Given the description of an element on the screen output the (x, y) to click on. 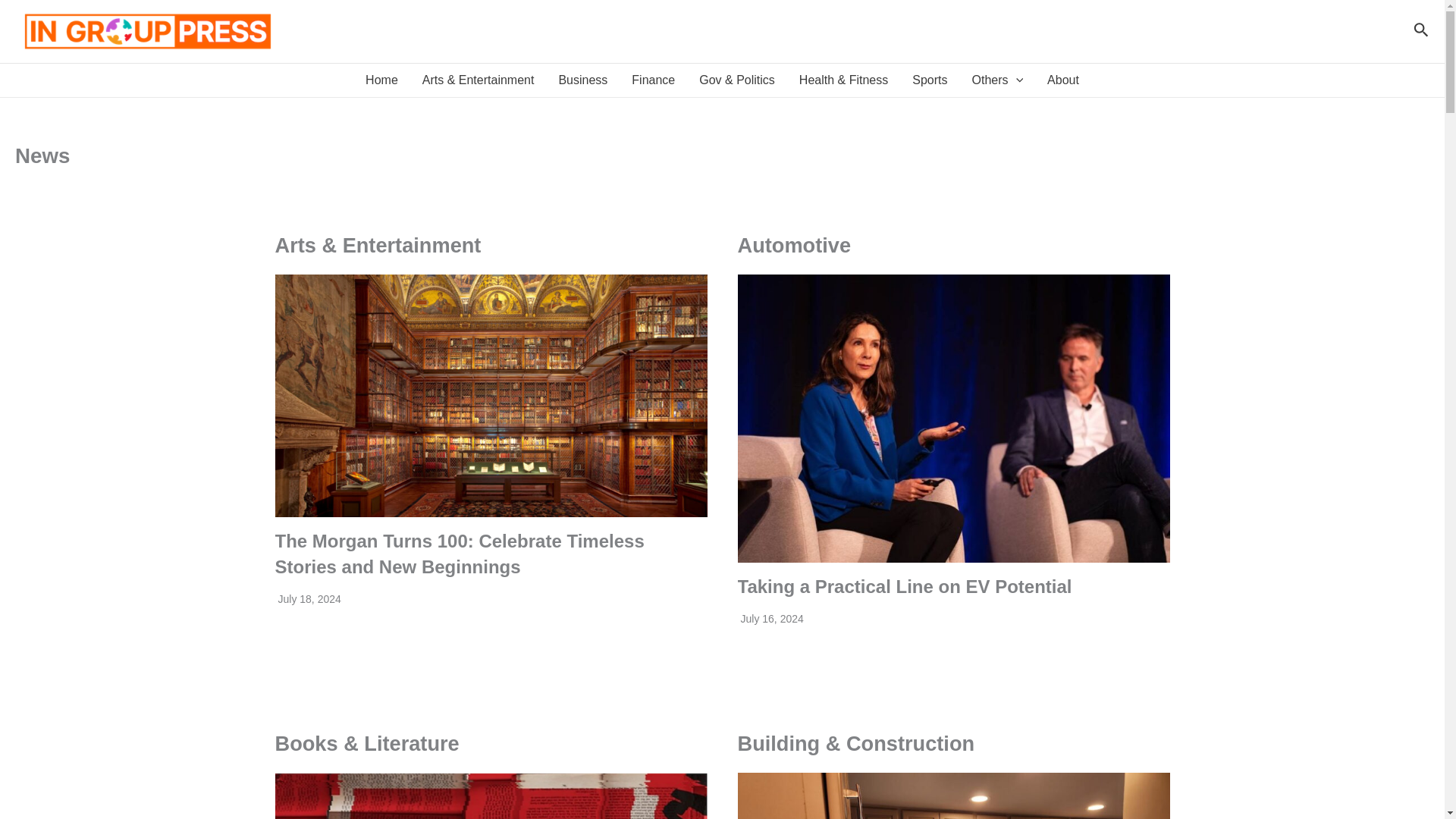
Others (997, 80)
Business (583, 80)
Home (381, 80)
About (1062, 80)
Sports (929, 80)
Finance (653, 80)
